Given the description of an element on the screen output the (x, y) to click on. 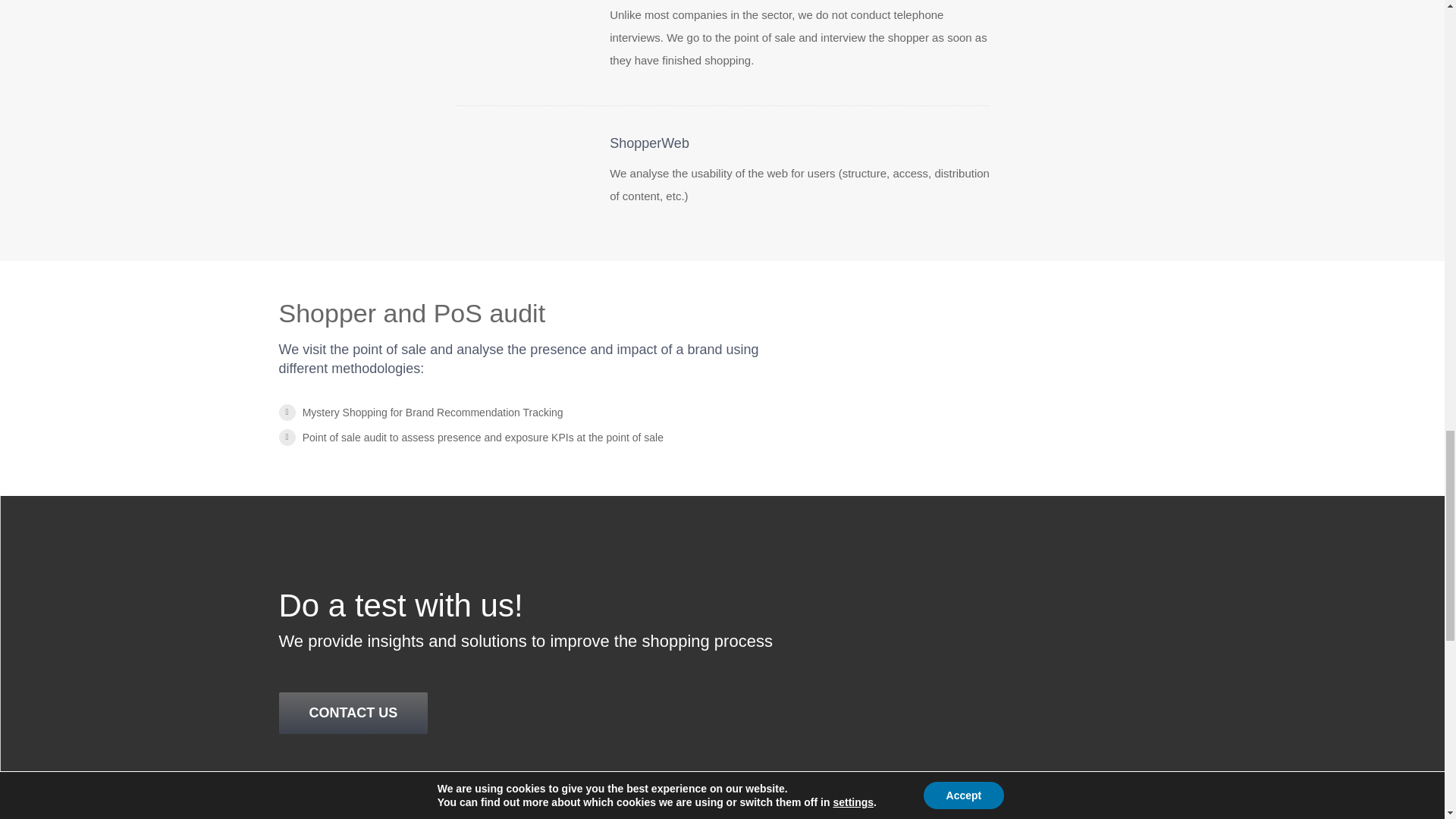
CONTACT US (353, 712)
